Given the description of an element on the screen output the (x, y) to click on. 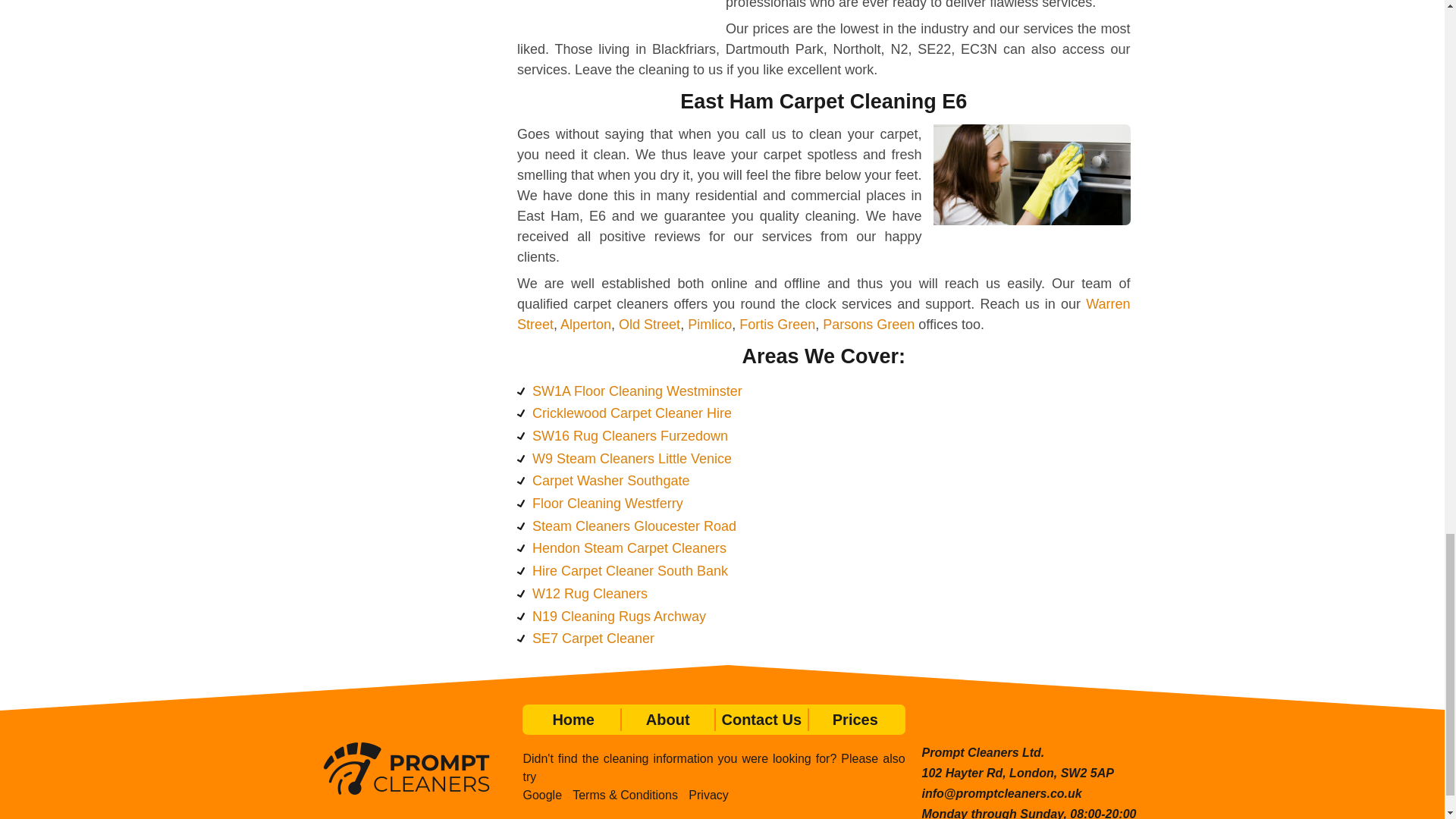
Old Street (648, 324)
SW1A Floor Cleaning Westminster (637, 391)
Steam Cleaners Gloucester Road (634, 525)
Hire Carpet Cleaner South Bank (630, 570)
SE7 Carpet Cleaner (592, 638)
Fortis Green (777, 324)
Warren Street (823, 314)
Hendon Steam Carpet Cleaners (629, 548)
Carpet Washer Southgate (610, 480)
W12 Rug Cleaners (589, 593)
SW16 Rug Cleaners Furzedown (630, 435)
W9 Steam Cleaners Little Venice (632, 458)
Floor Cleaning Westferry (607, 503)
N19 Cleaning Rugs Archway (619, 616)
Cricklewood Carpet Cleaner Hire (632, 412)
